Given the description of an element on the screen output the (x, y) to click on. 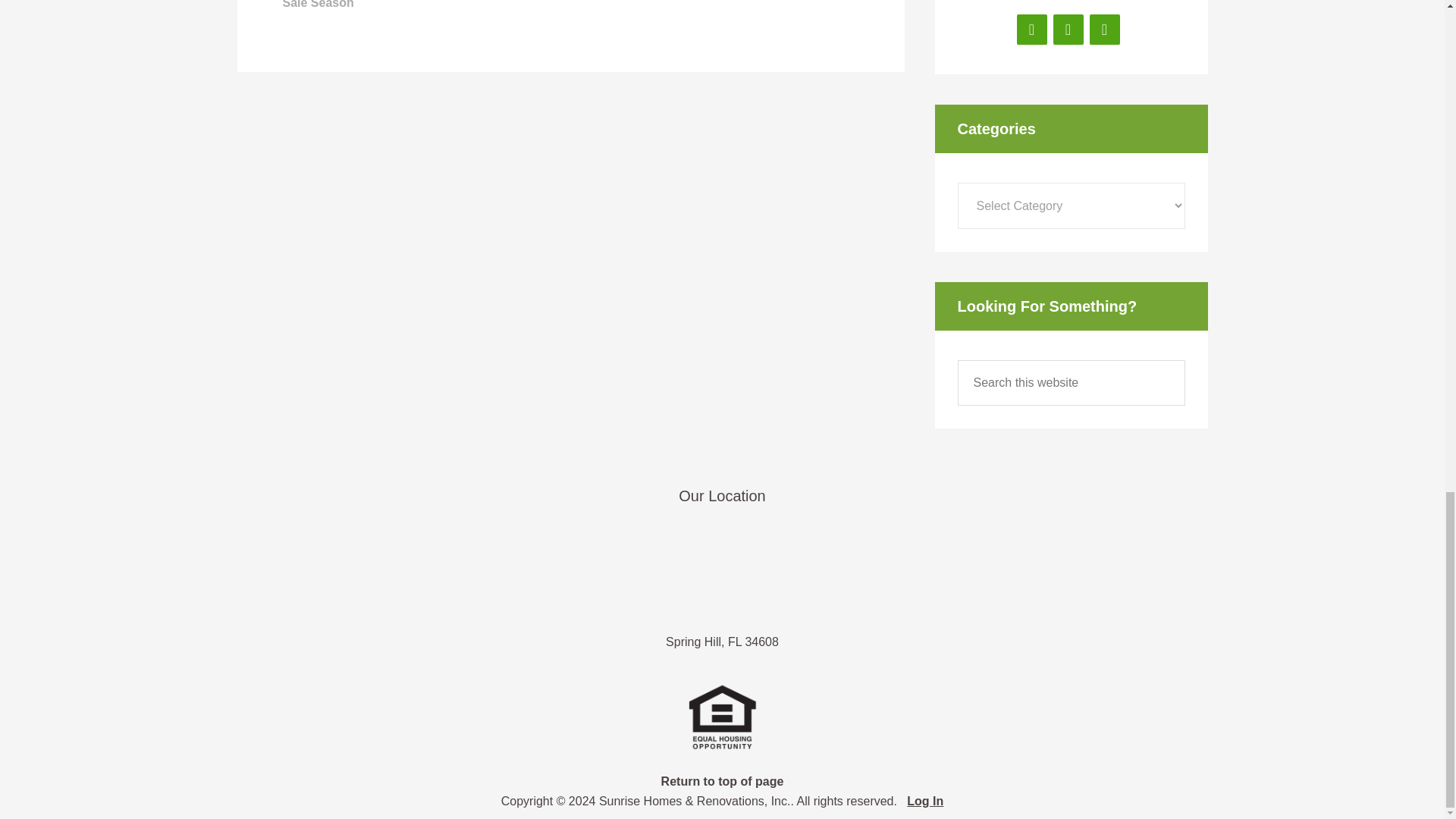
Peak Home Sale Season (557, 4)
Return to top of page (722, 780)
Log In (925, 800)
